Given the description of an element on the screen output the (x, y) to click on. 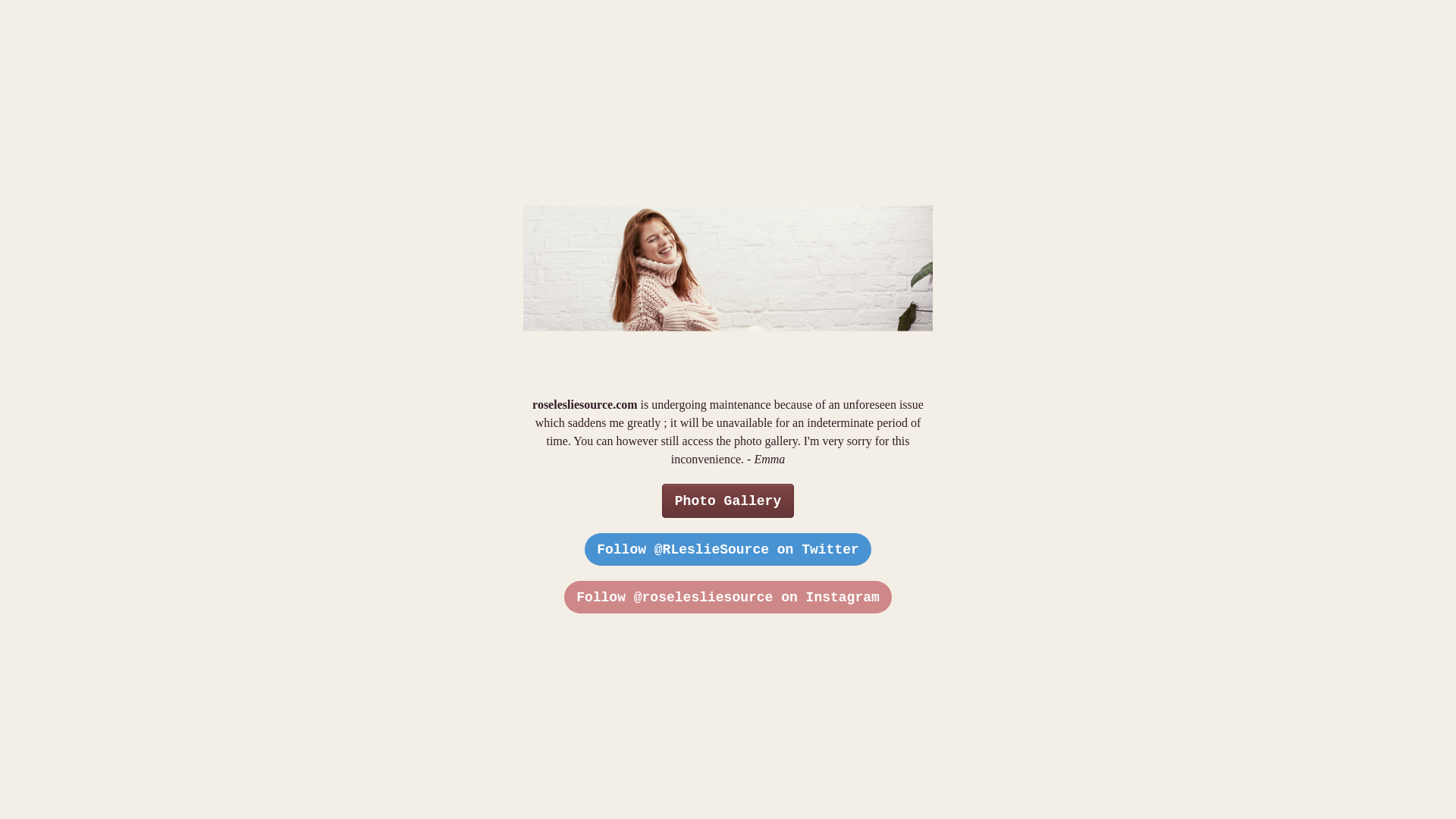
Photo Gallery (727, 500)
